Given the description of an element on the screen output the (x, y) to click on. 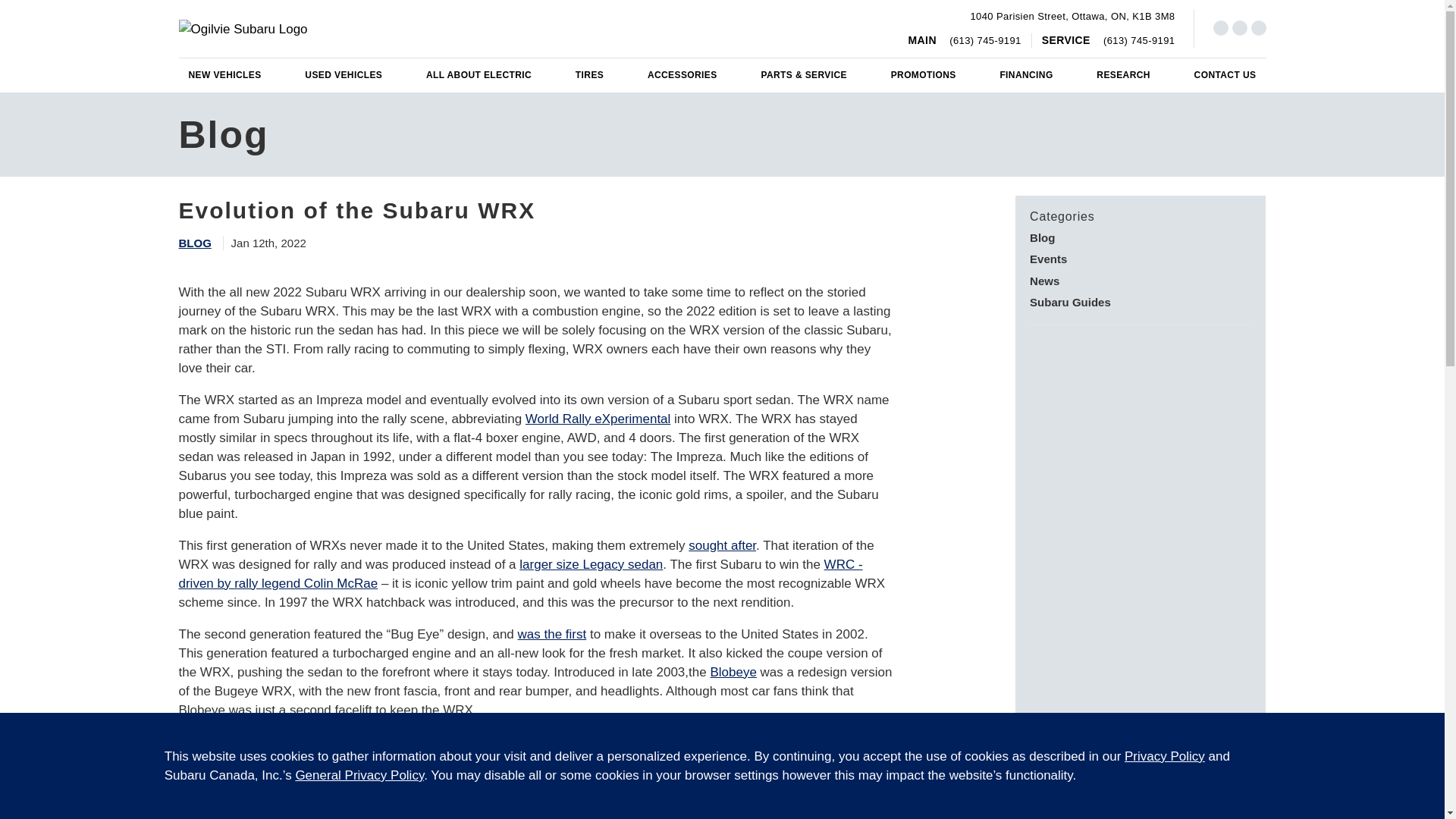
USED VEHICLES (343, 75)
NEW VEHICLES (224, 75)
TIRES (1071, 16)
ALL ABOUT ELECTRIC (589, 75)
ACCESSORIES (478, 75)
